Given the description of an element on the screen output the (x, y) to click on. 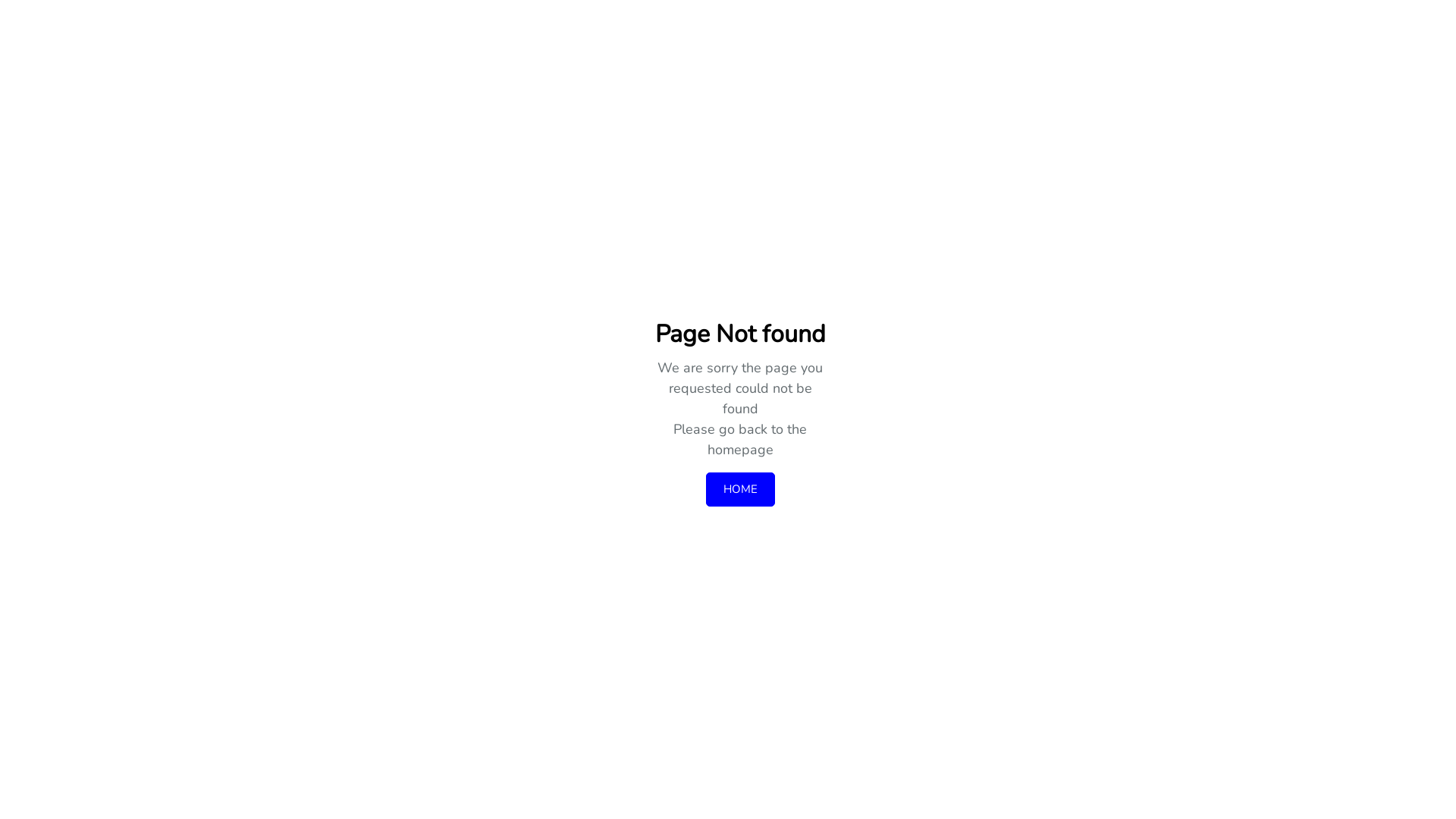
HOME Element type: text (739, 489)
